Given the description of an element on the screen output the (x, y) to click on. 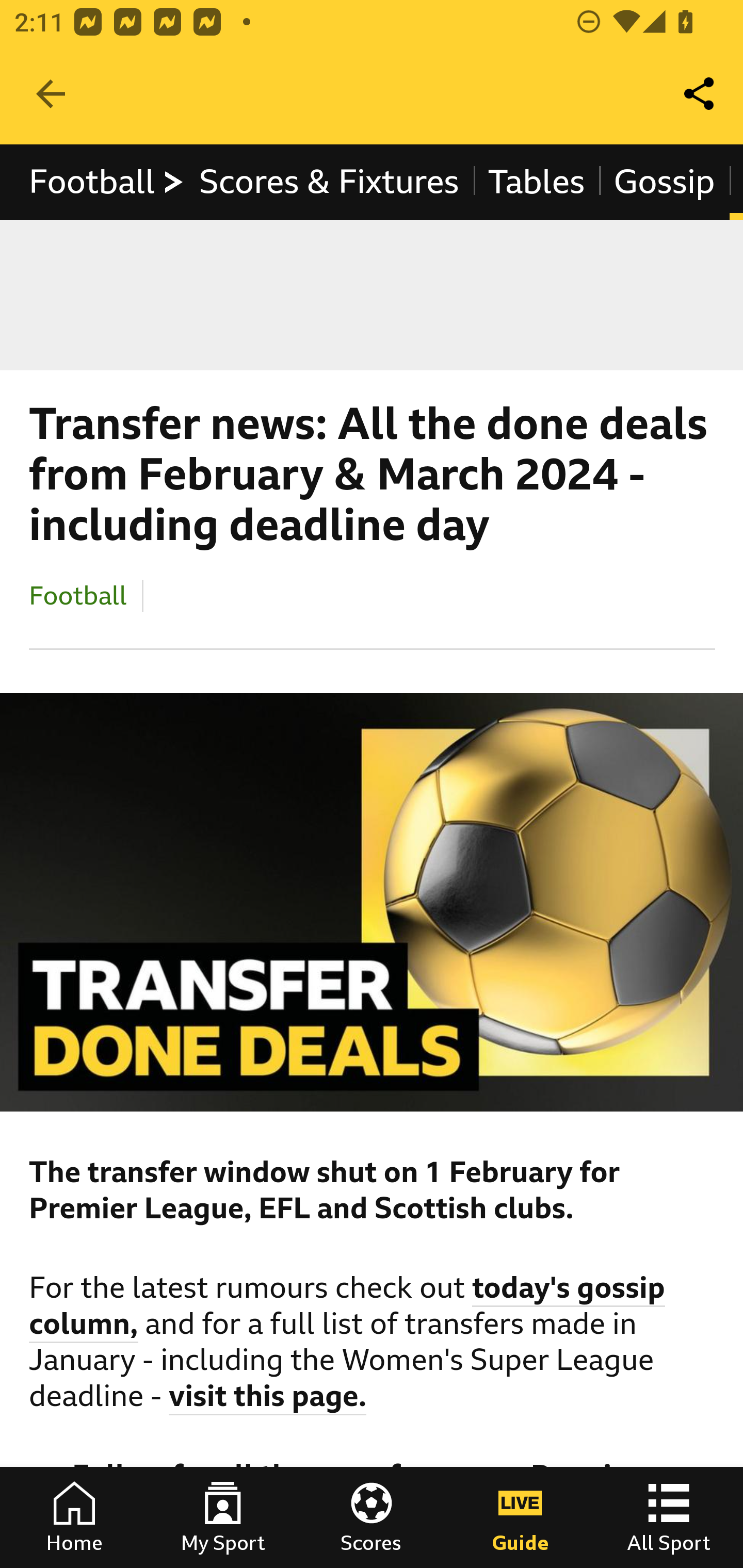
Navigate up (50, 93)
Share (699, 93)
Football  (106, 181)
Scores & Fixtures (329, 181)
Tables (536, 181)
Gossip (664, 181)
Football (77, 594)
today's gossip column, (347, 1307)
visit this page. (267, 1398)
Home (74, 1517)
My Sport (222, 1517)
Scores (371, 1517)
All Sport (668, 1517)
